Given the description of an element on the screen output the (x, y) to click on. 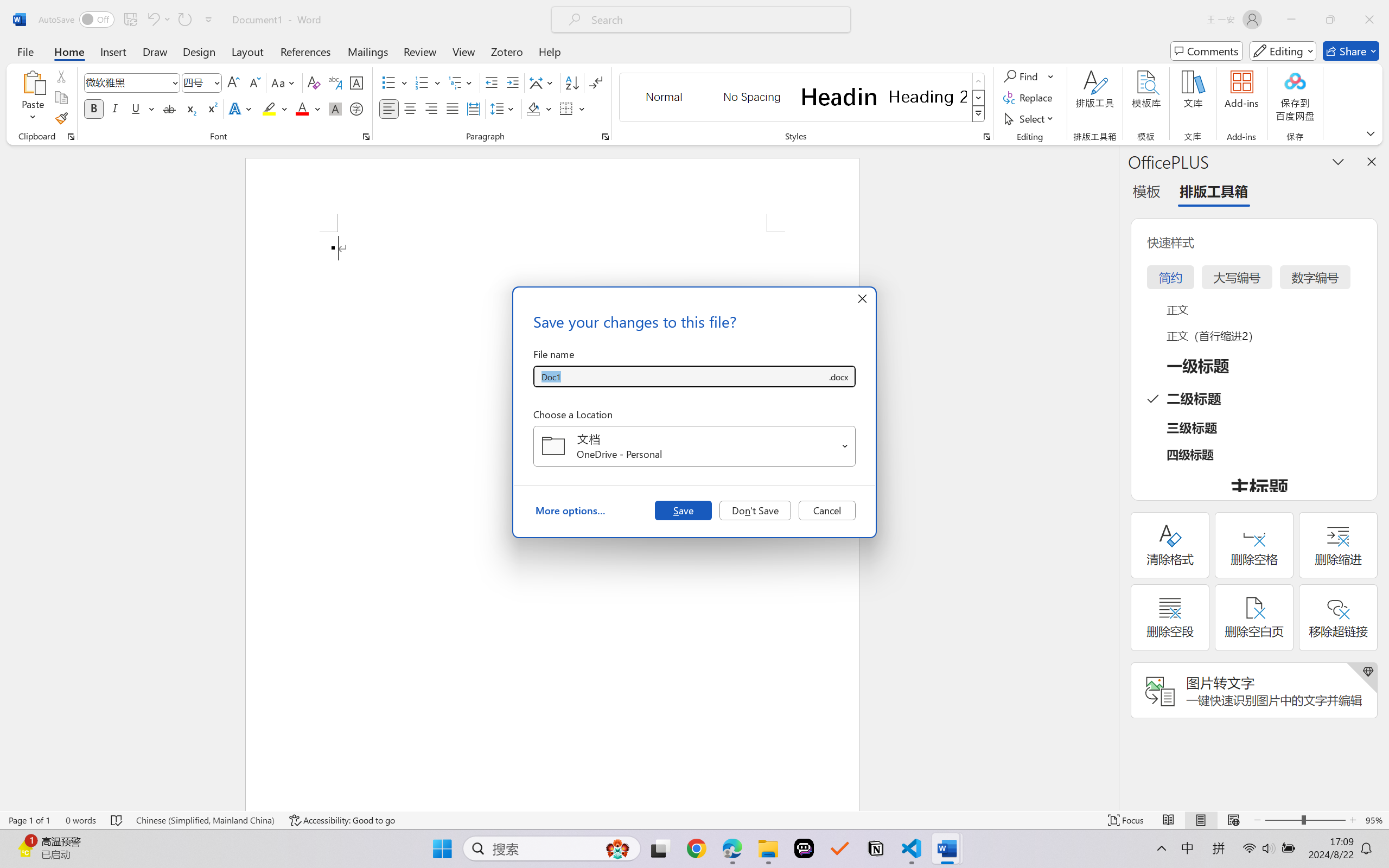
File name (680, 376)
Class: NetUIScrollBar (1111, 477)
